Given the description of an element on the screen output the (x, y) to click on. 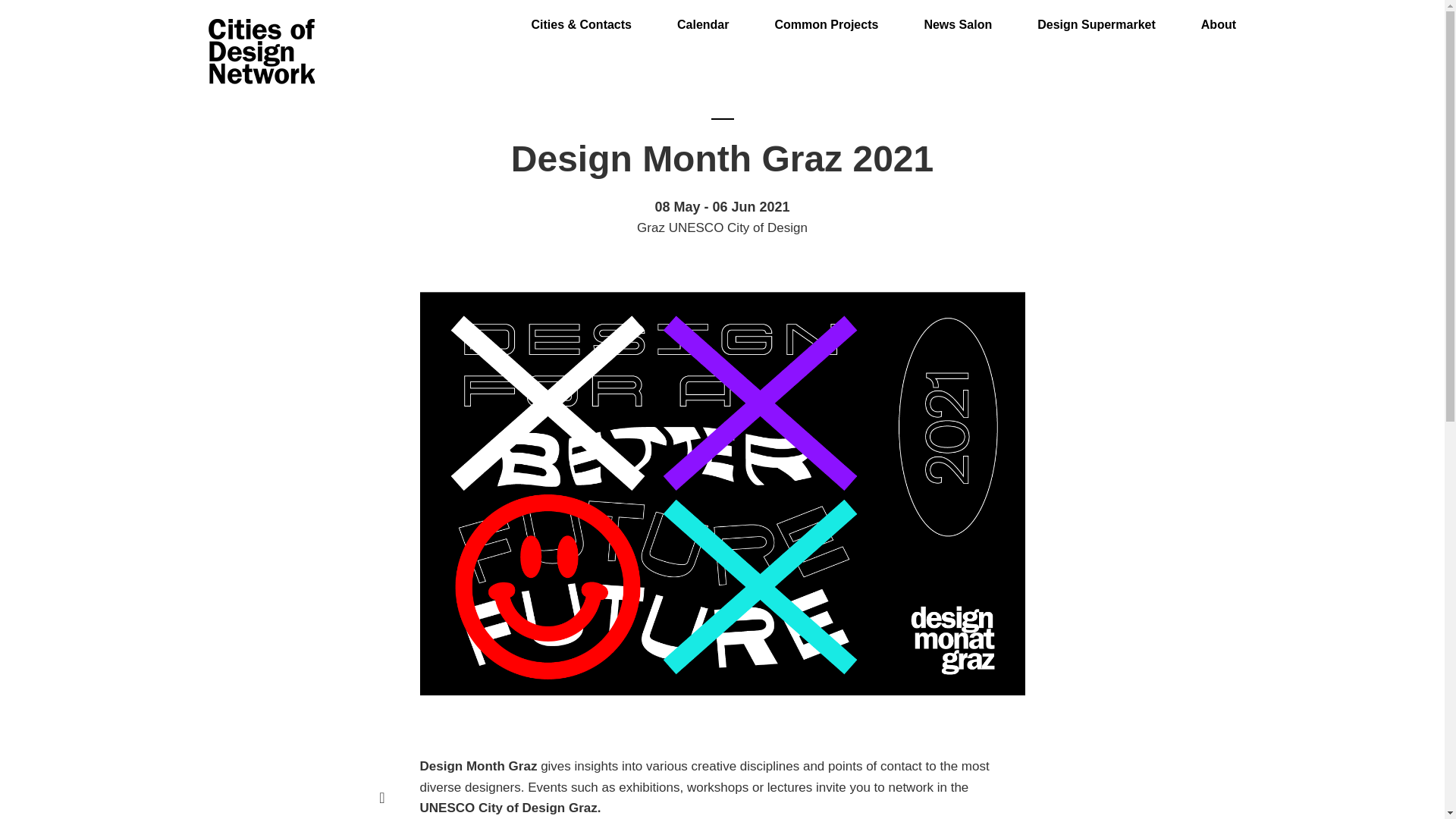
Calendar (703, 15)
Common Projects (825, 15)
About (1218, 15)
Cities of Design Network (261, 52)
News Salon (957, 15)
Design Supermarket (1096, 15)
